Given the description of an element on the screen output the (x, y) to click on. 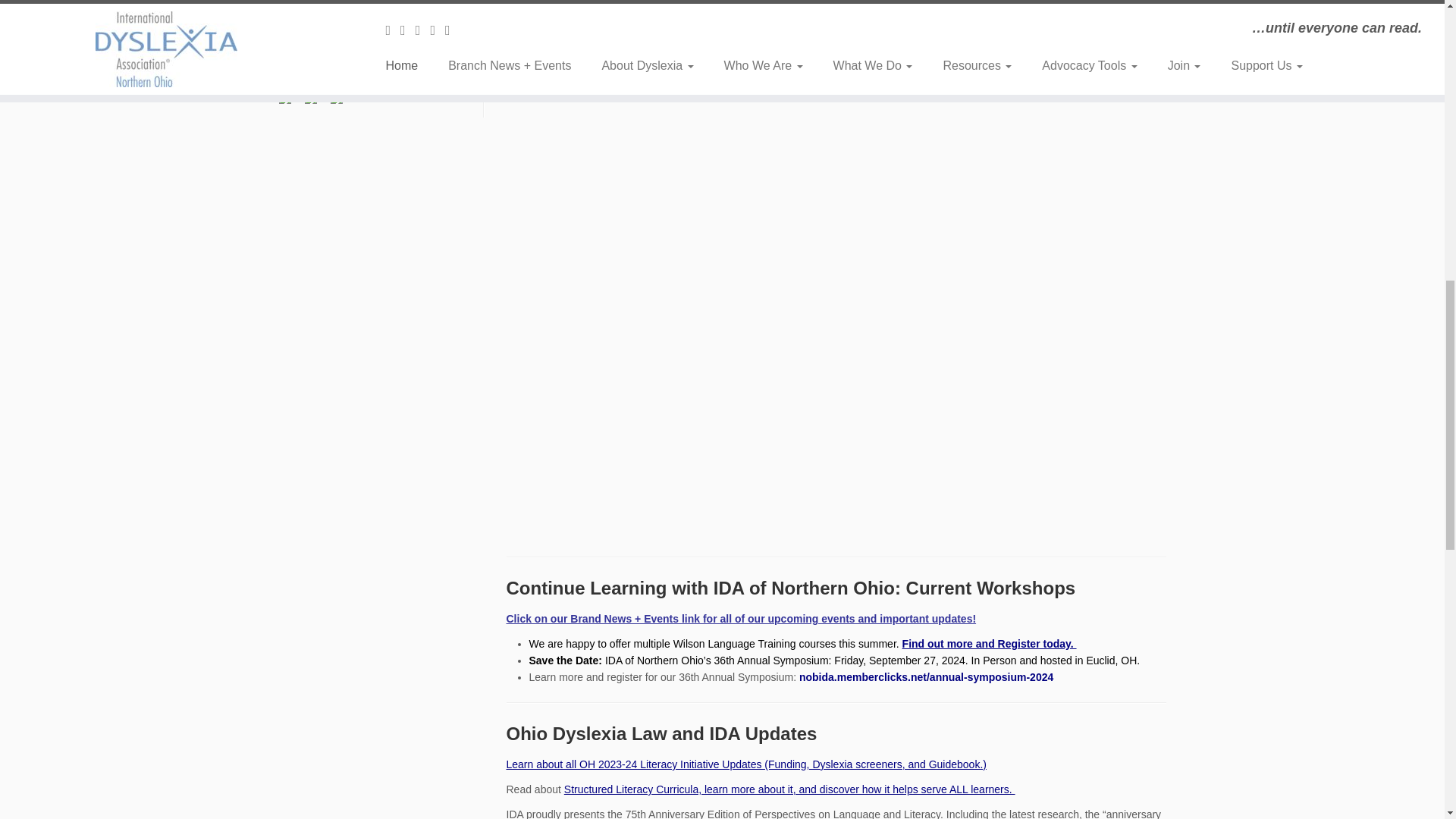
Follow us on Facebook (288, 100)
Follow us on Twitter (313, 100)
Check out our instagram feed (339, 100)
